Given the description of an element on the screen output the (x, y) to click on. 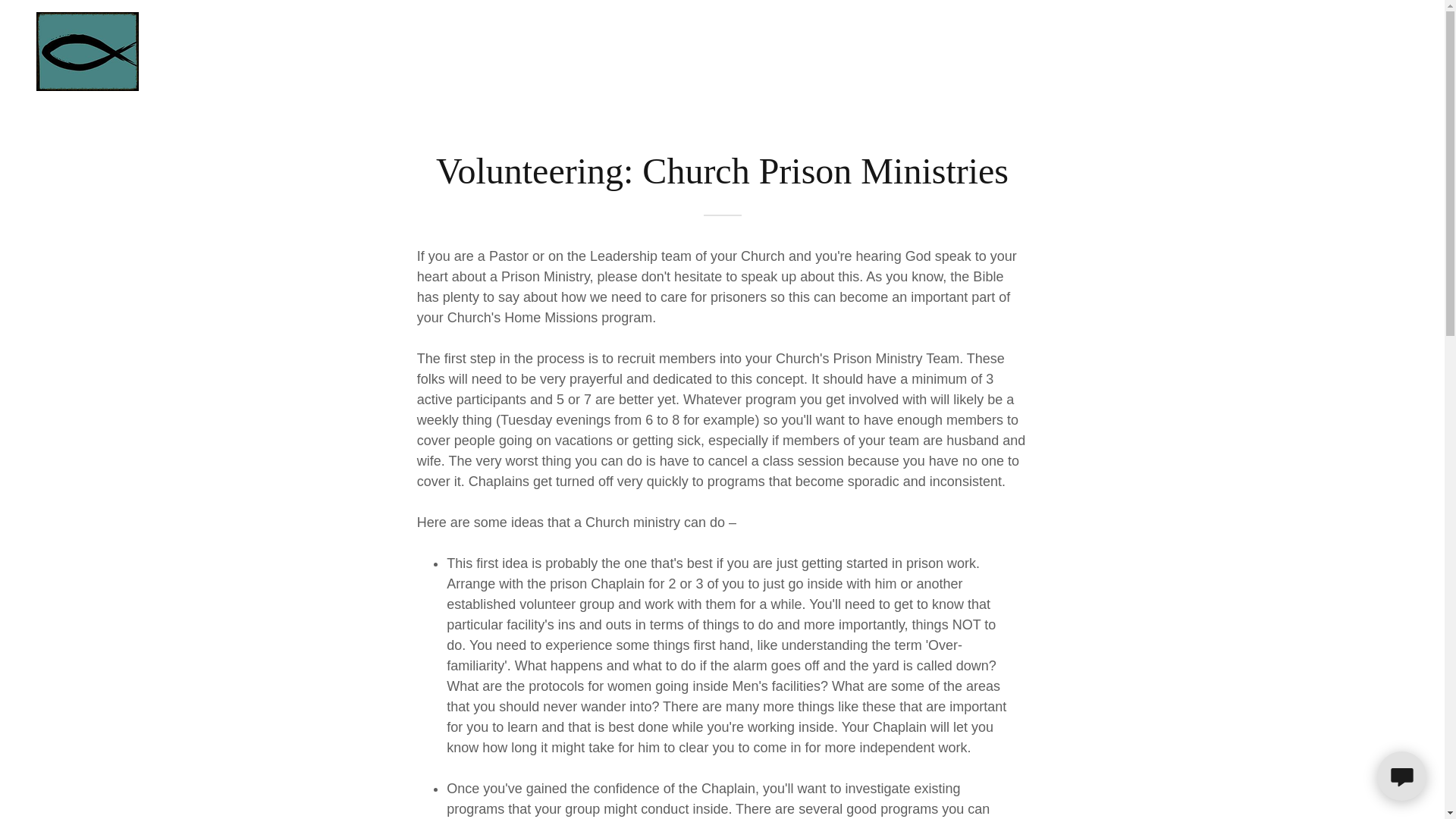
Bibles 4 Change (87, 50)
